Given the description of an element on the screen output the (x, y) to click on. 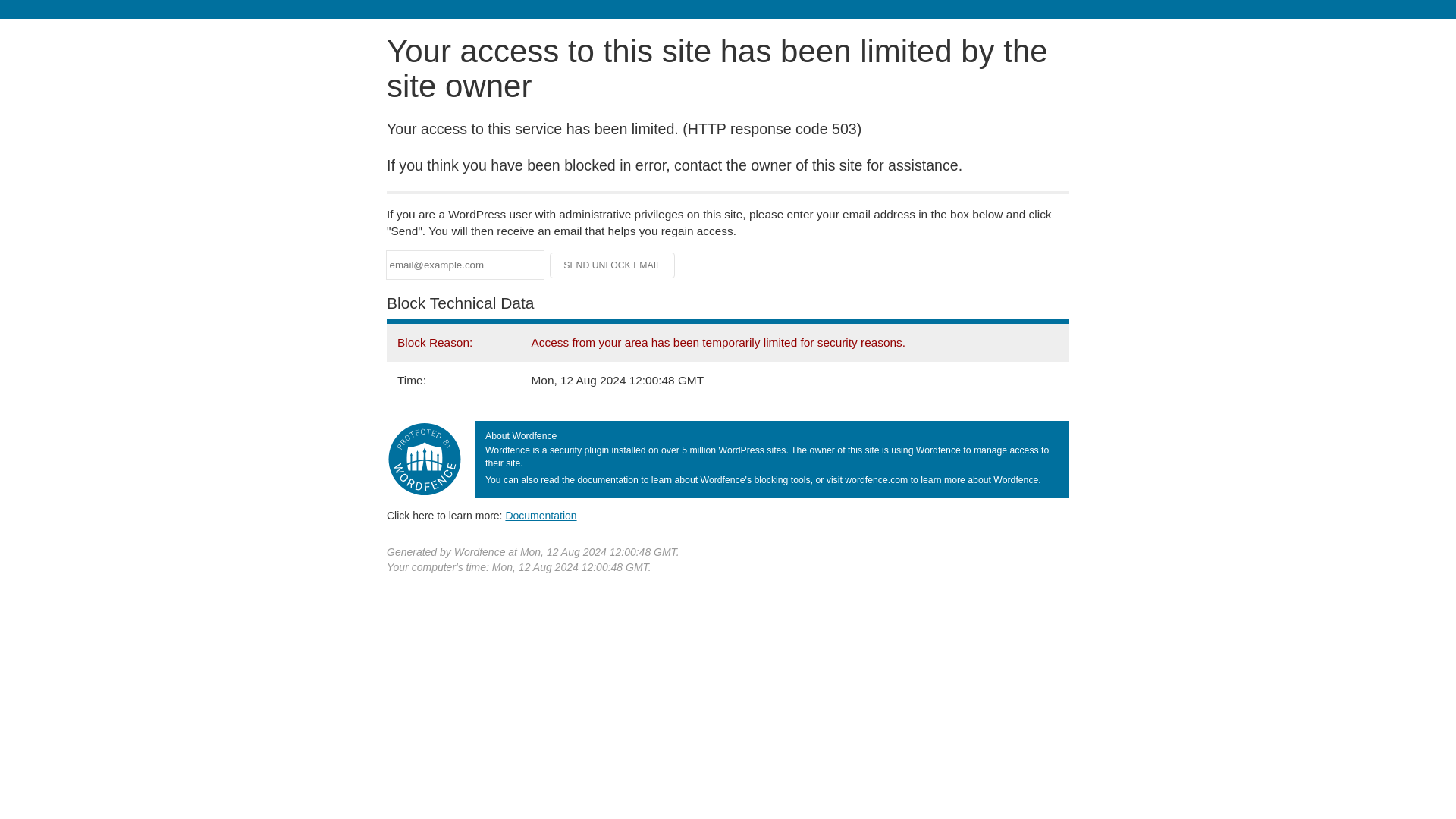
Send Unlock Email (612, 265)
Send Unlock Email (612, 265)
Documentation (540, 515)
